Given the description of an element on the screen output the (x, y) to click on. 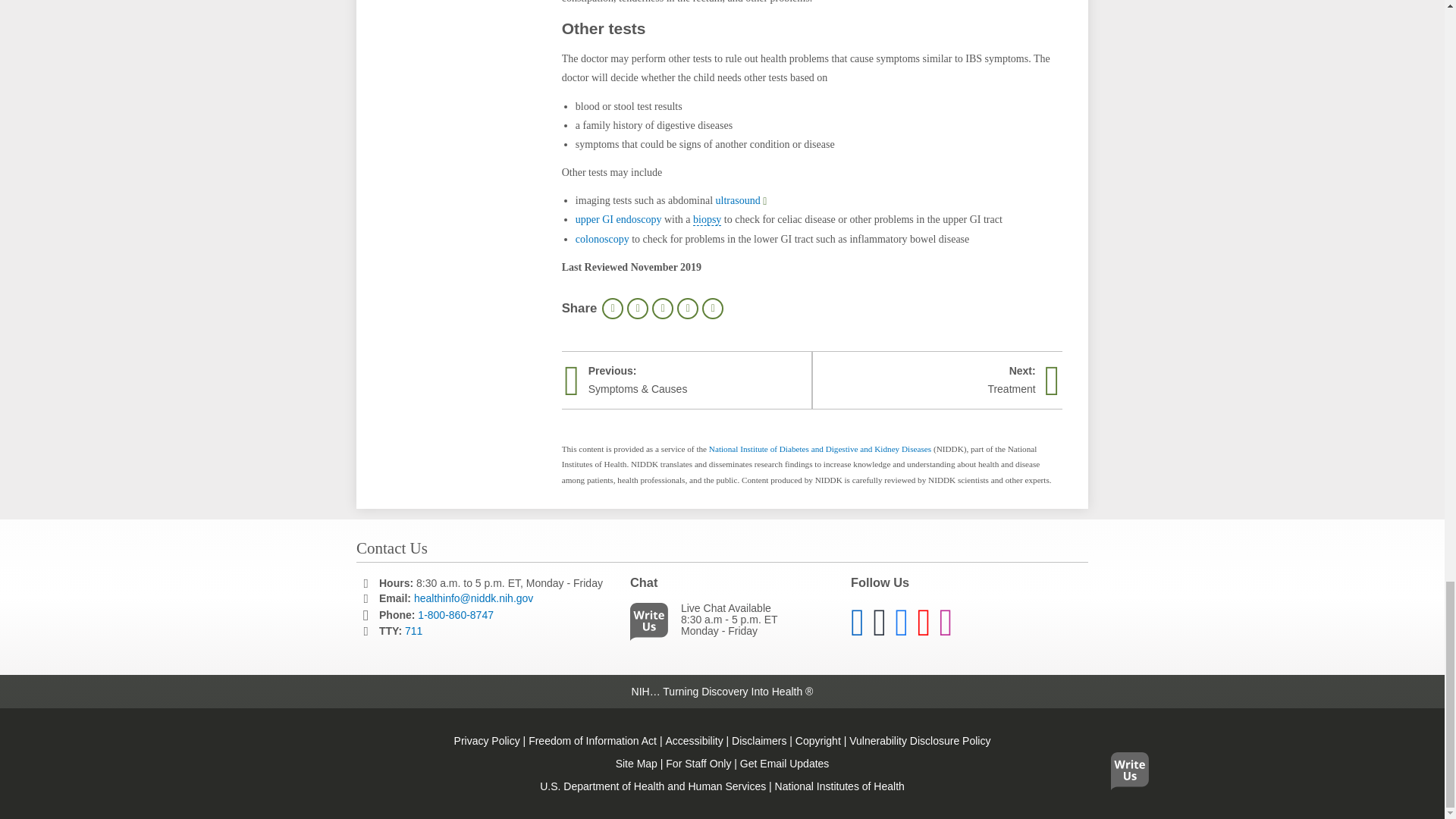
More sharing options (712, 308)
Post this page on X (662, 308)
Write us (652, 625)
Print this page (612, 308)
Email this page (687, 308)
Share this page on Facebook (637, 308)
